Given the description of an element on the screen output the (x, y) to click on. 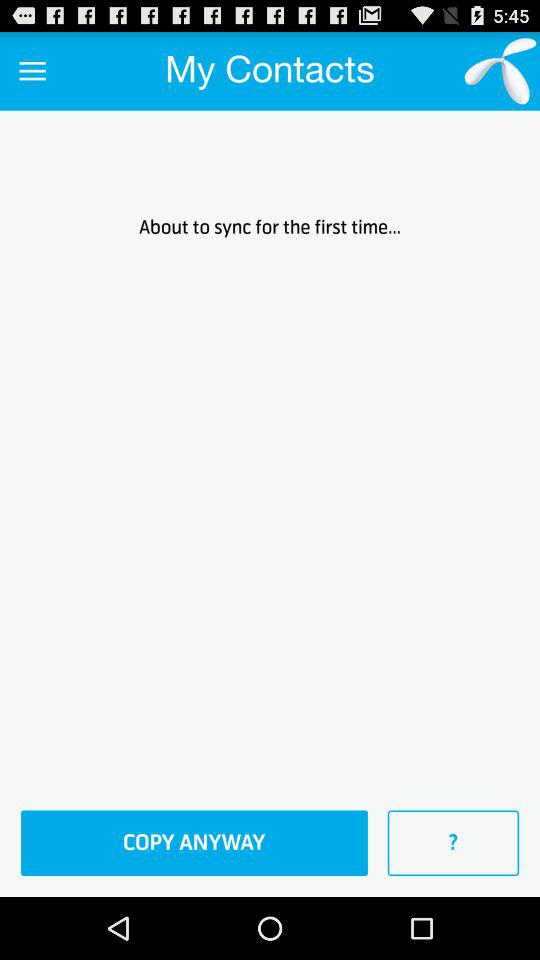
select the icon to the right of the copy anyway icon (453, 843)
